Given the description of an element on the screen output the (x, y) to click on. 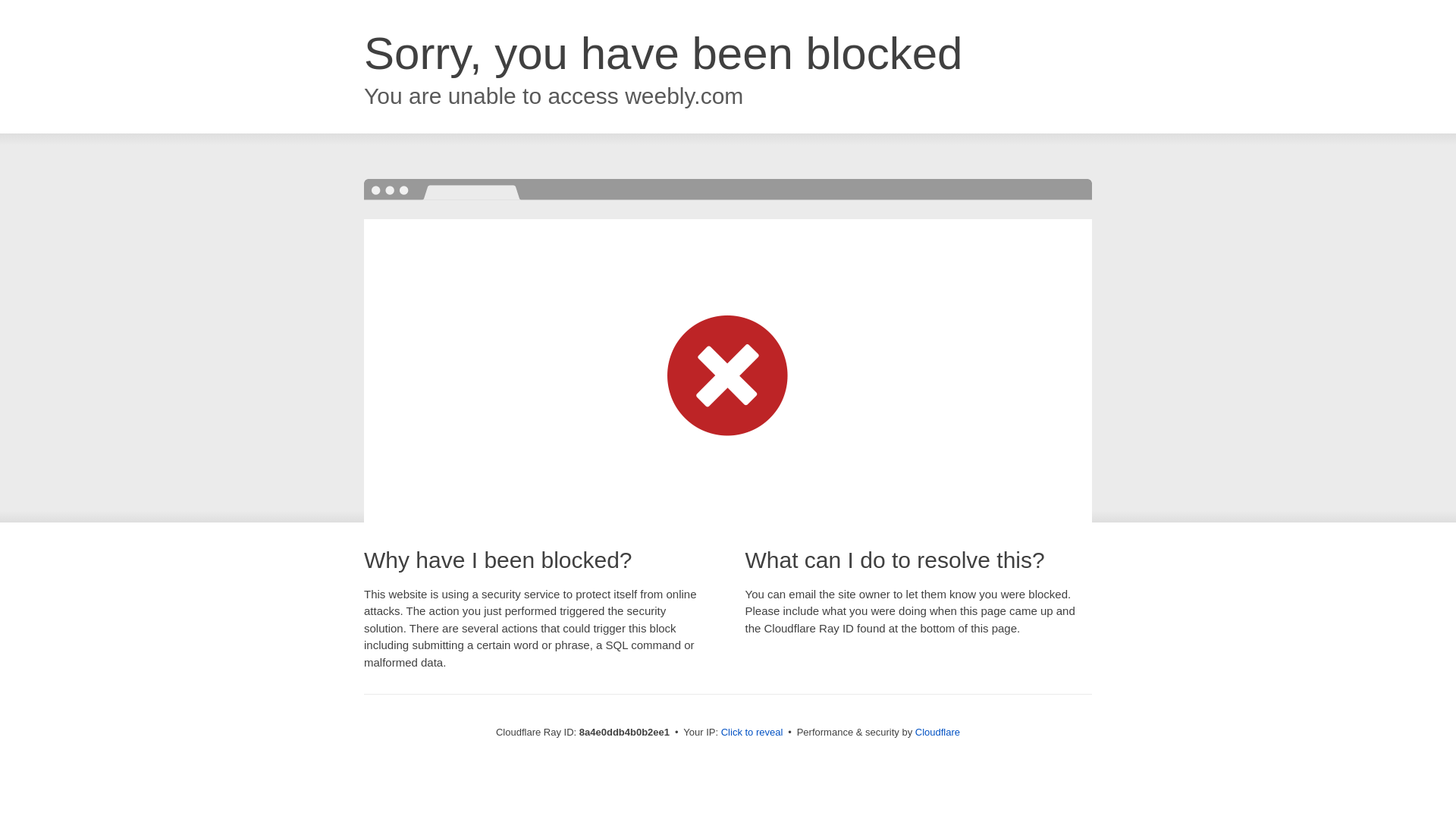
Click to reveal (751, 732)
Cloudflare (937, 731)
